Given the description of an element on the screen output the (x, y) to click on. 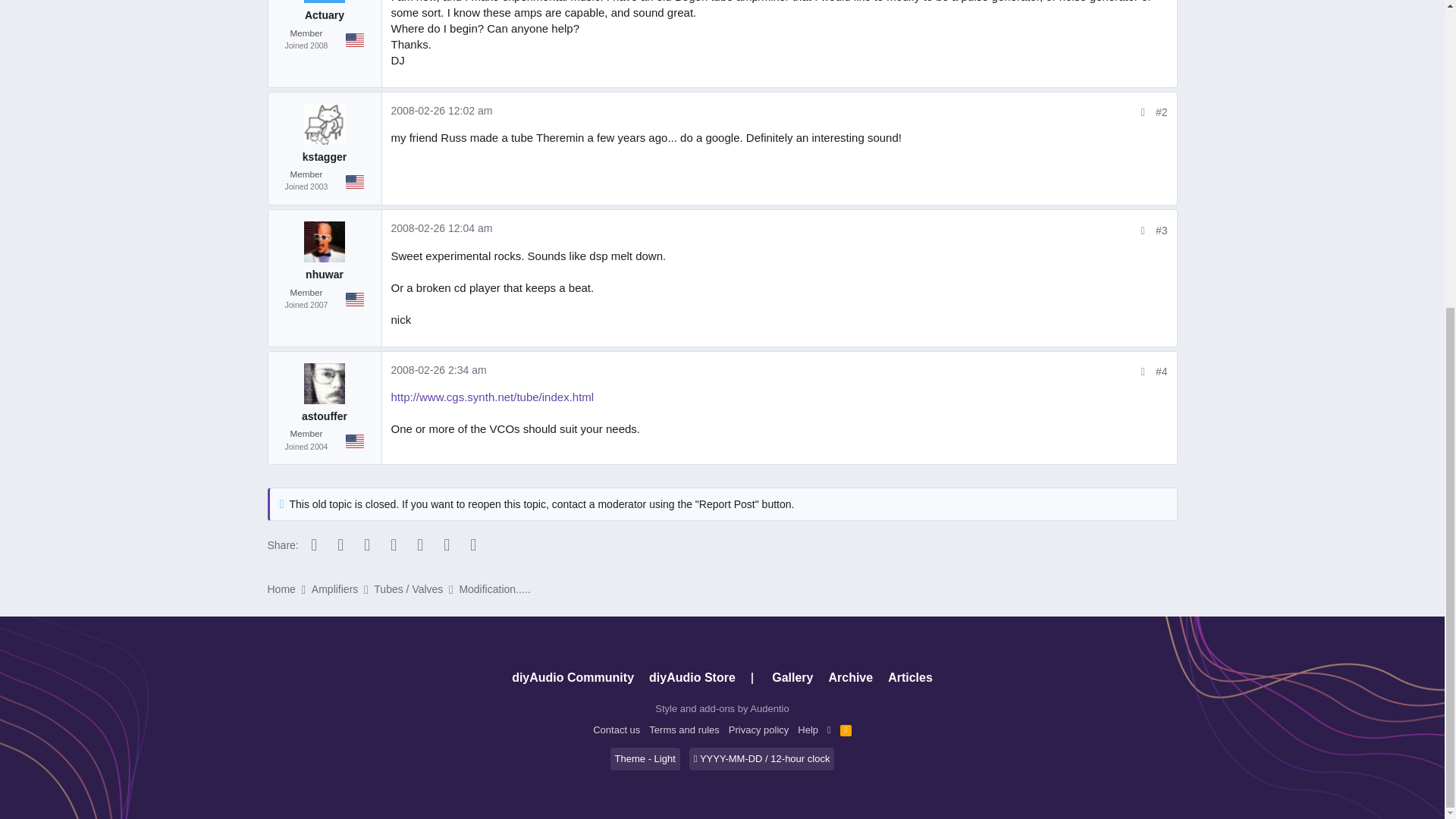
Randolph, Ma, USA (355, 299)
Grand Rapids, USA (355, 182)
USA (355, 39)
2008-02-26 12:02 am at 12:02 AM (442, 110)
